Given the description of an element on the screen output the (x, y) to click on. 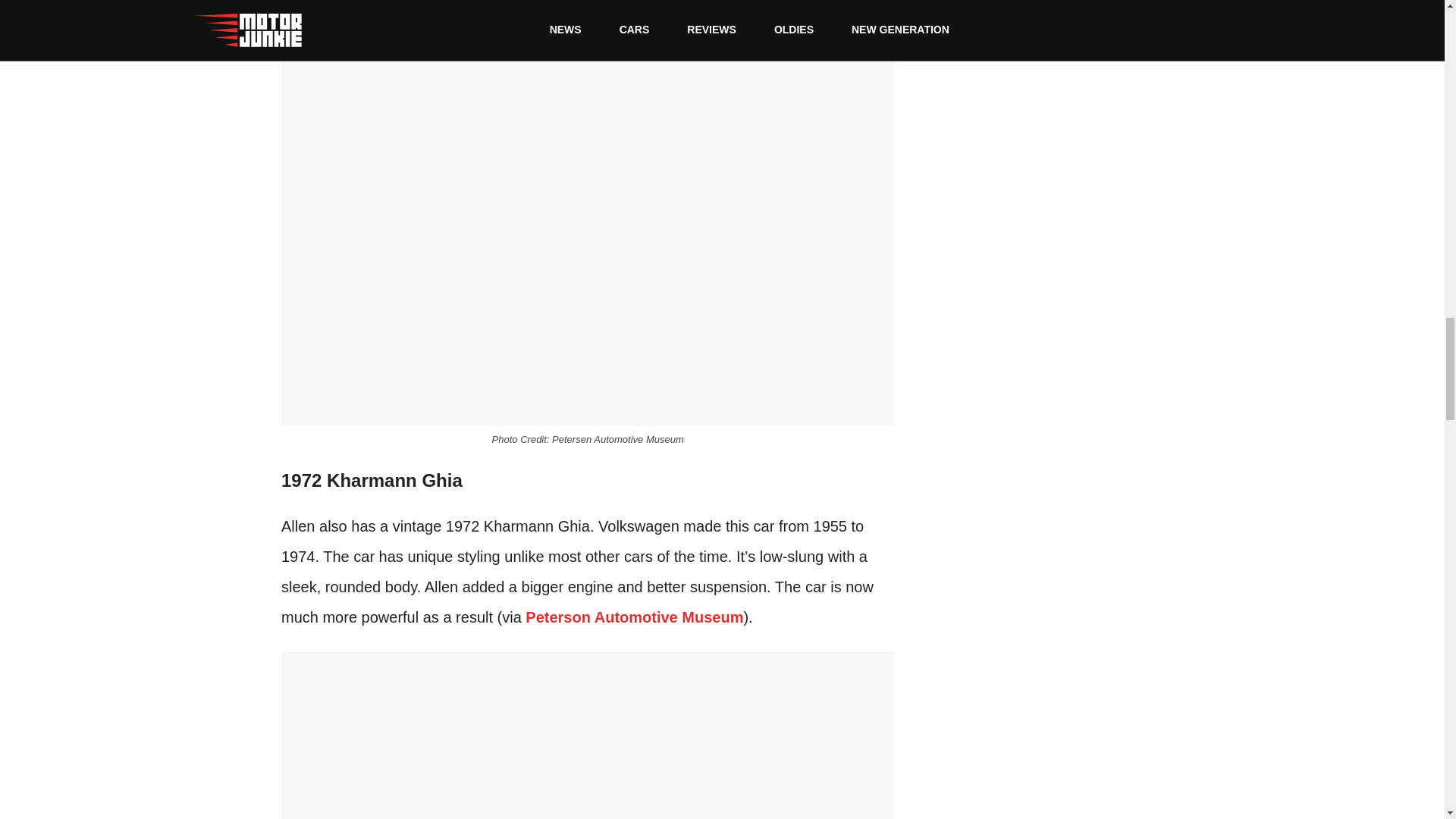
Peterson Automotive Museum (633, 617)
